Given the description of an element on the screen output the (x, y) to click on. 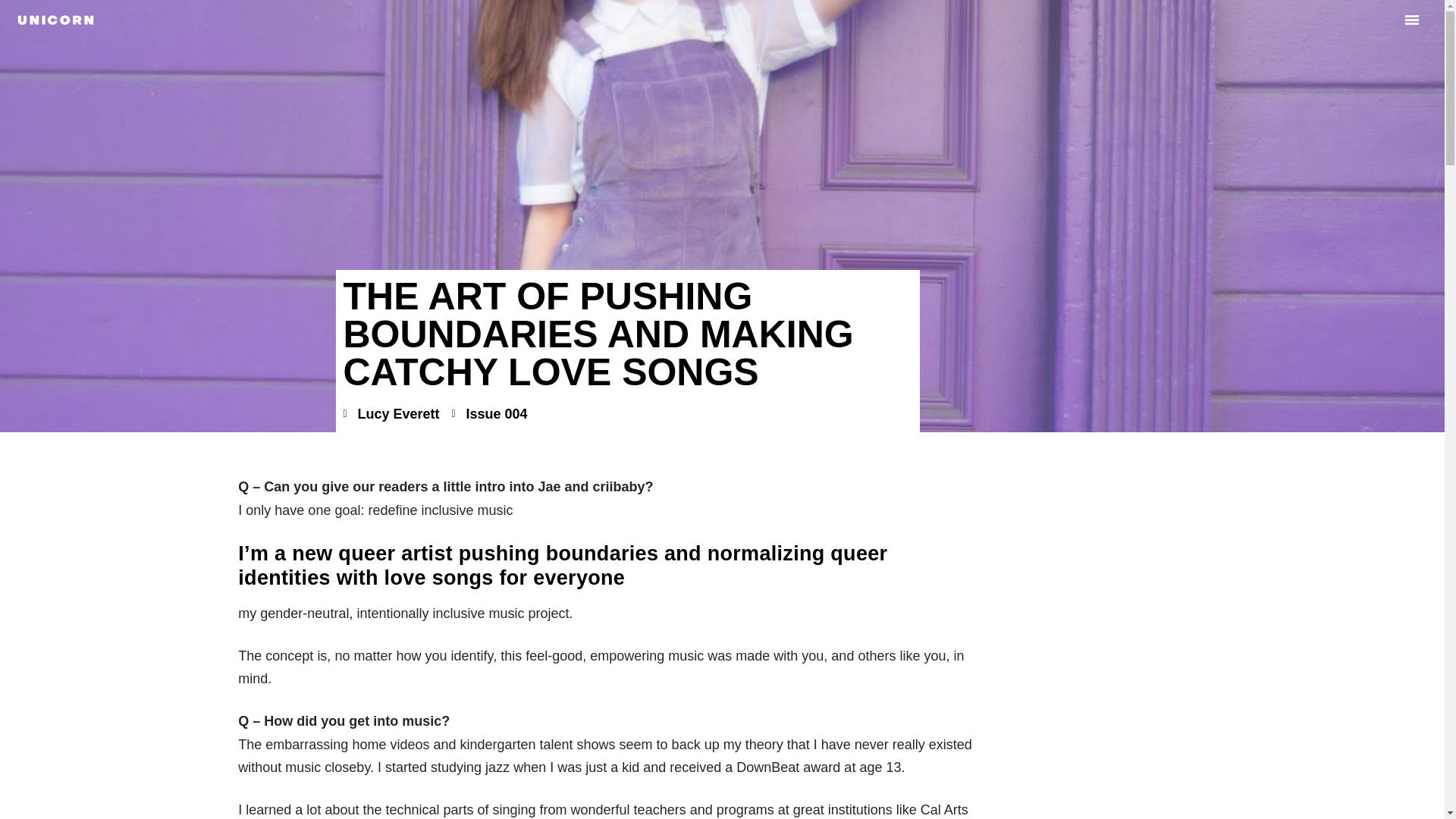
Lucy Everett (390, 413)
Issue 004 (496, 413)
